Given the description of an element on the screen output the (x, y) to click on. 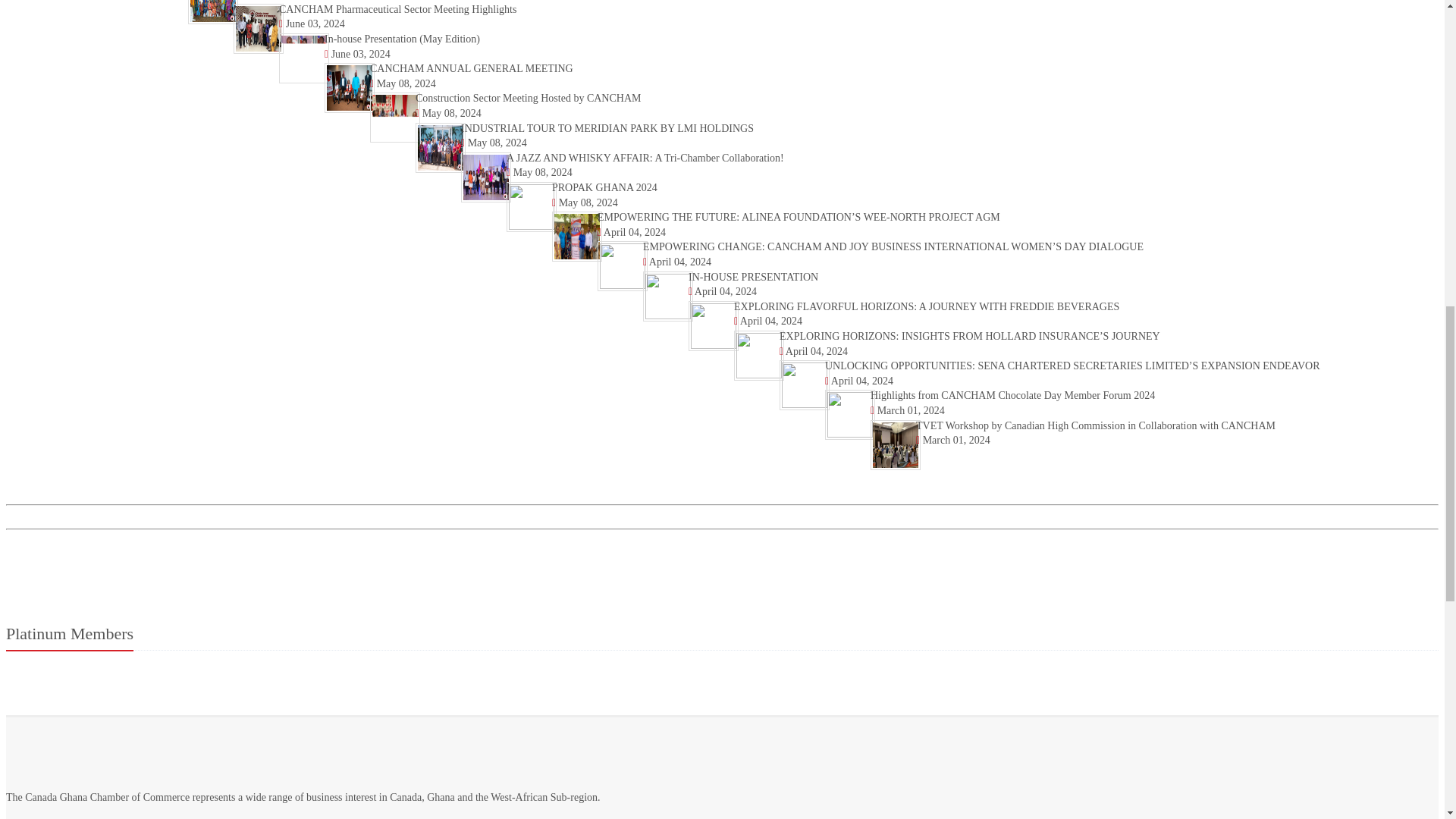
Construction Sector Meeting Hosted by CANCHAM (527, 98)
CANCHAM ANNUAL GENERAL MEETING (471, 68)
CANCHAM Pharmaceutical Sector Meeting Highlights (397, 9)
A JAZZ AND WHISKY AFFAIR: A Tri-Chamber Collaboration! (645, 157)
INDUSTRIAL TOUR TO MERIDIAN PARK BY LMI HOLDINGS (607, 128)
PROPAK GHANA 2024 (604, 187)
IN-HOUSE PRESENTATION (753, 276)
